Given the description of an element on the screen output the (x, y) to click on. 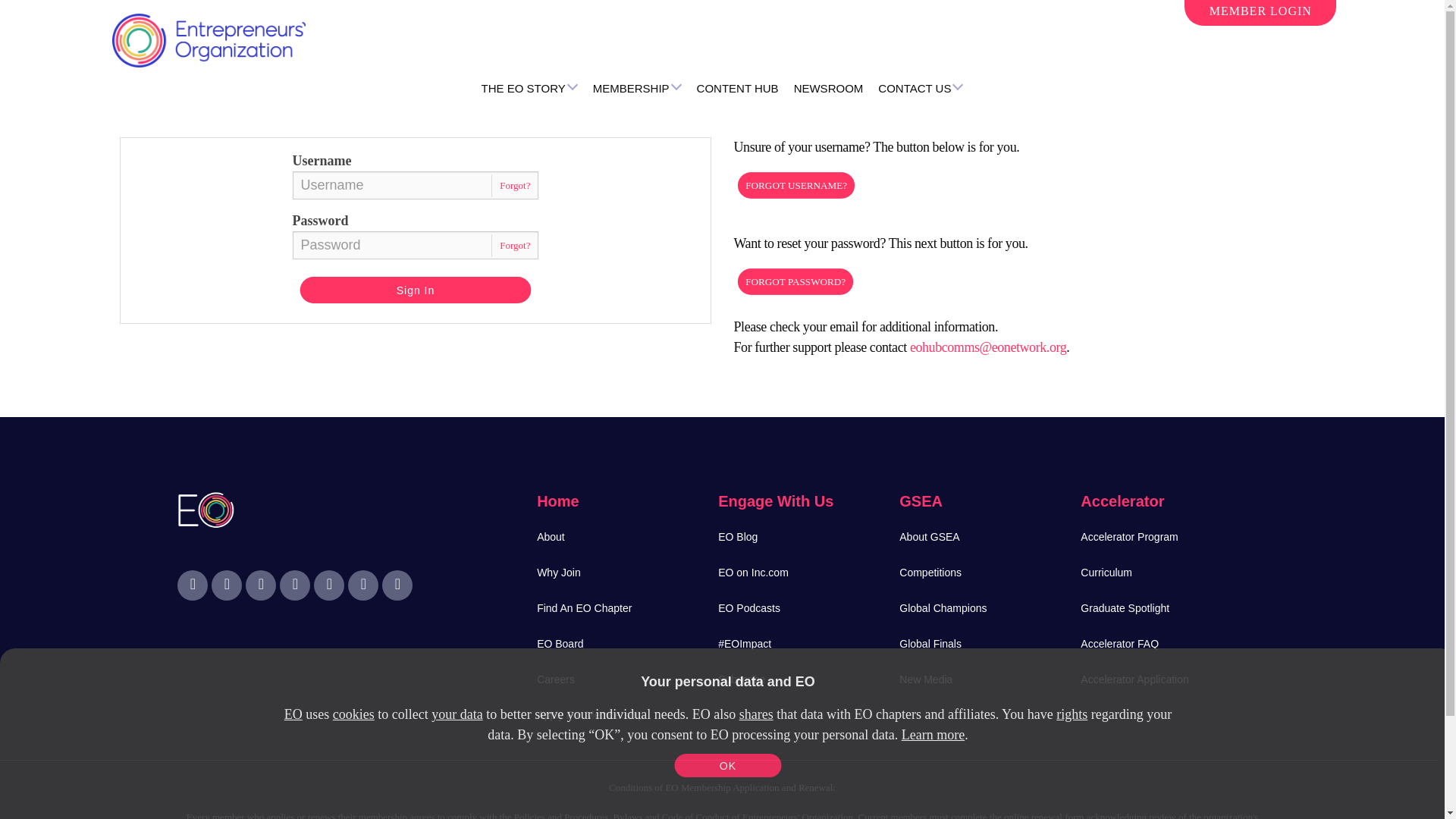
iMIS (208, 42)
Home (208, 42)
Sign In (421, 290)
THE EO STORY (529, 89)
